Given the description of an element on the screen output the (x, y) to click on. 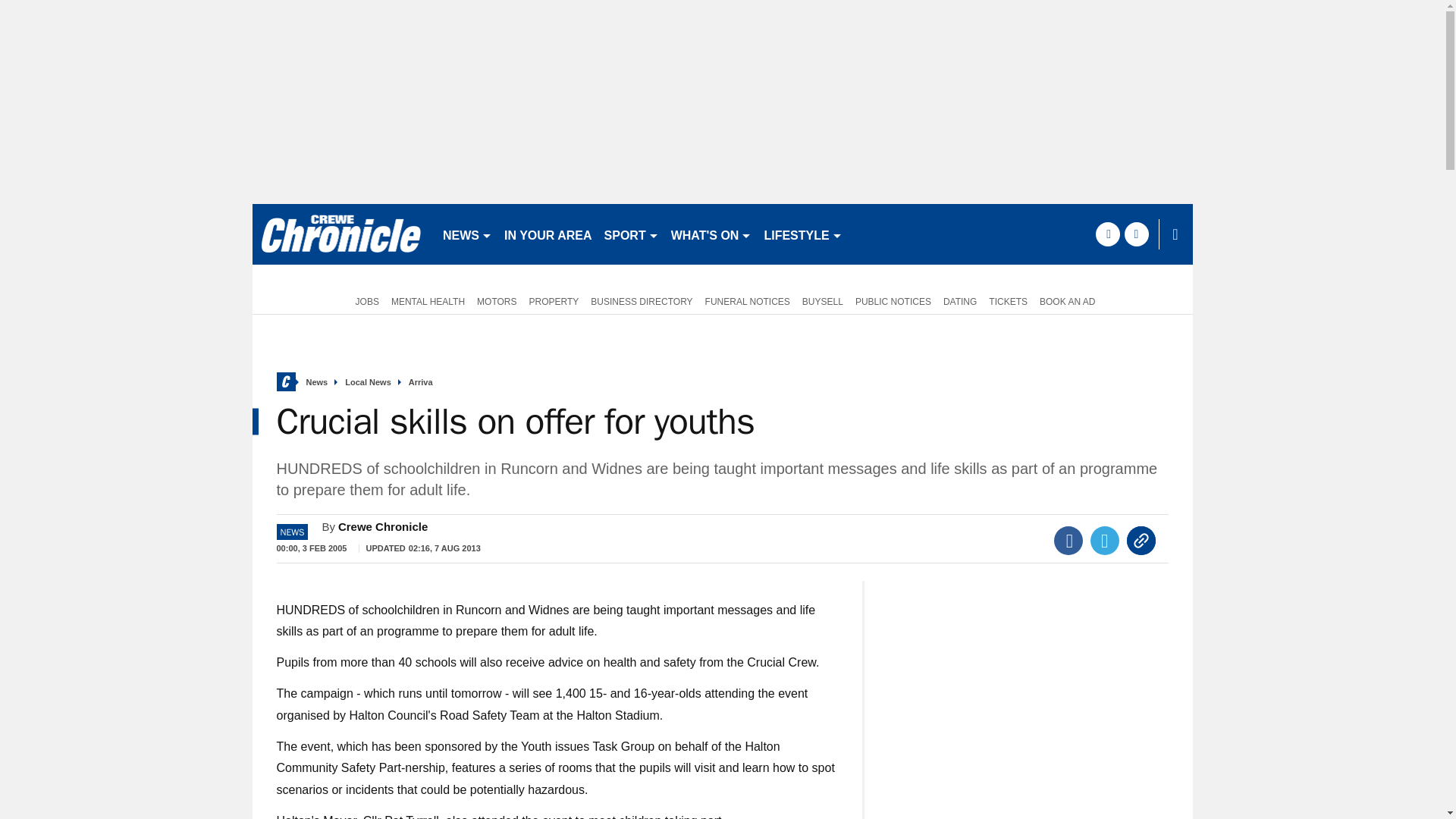
NEWS (466, 233)
twitter (1136, 233)
facebook (1106, 233)
WHAT'S ON (711, 233)
SPORT (631, 233)
IN YOUR AREA (547, 233)
Twitter (1104, 540)
Facebook (1068, 540)
crewechronicle (340, 233)
LIFESTYLE (802, 233)
